Given the description of an element on the screen output the (x, y) to click on. 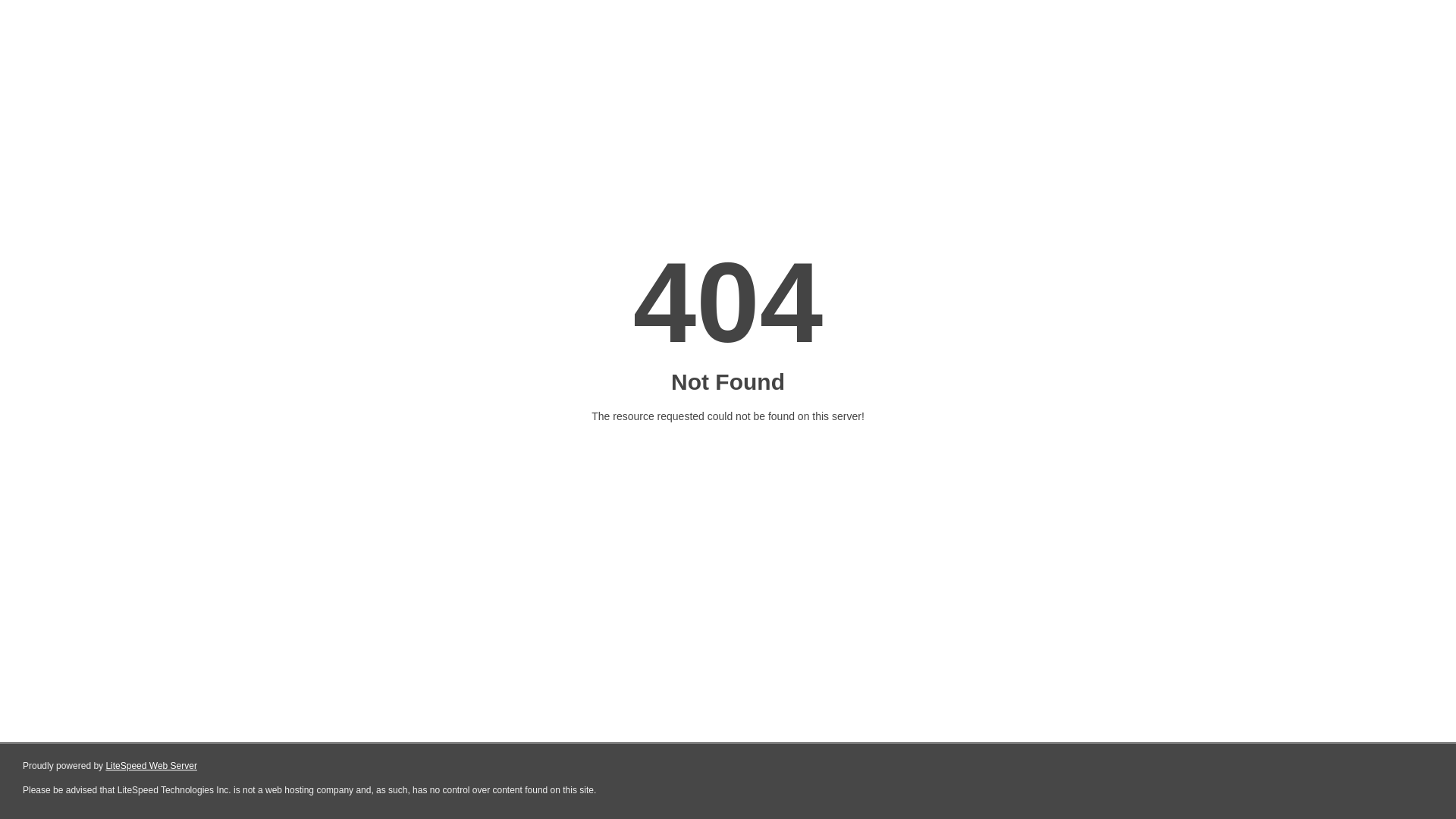
LiteSpeed Web Server Element type: text (151, 765)
